Given the description of an element on the screen output the (x, y) to click on. 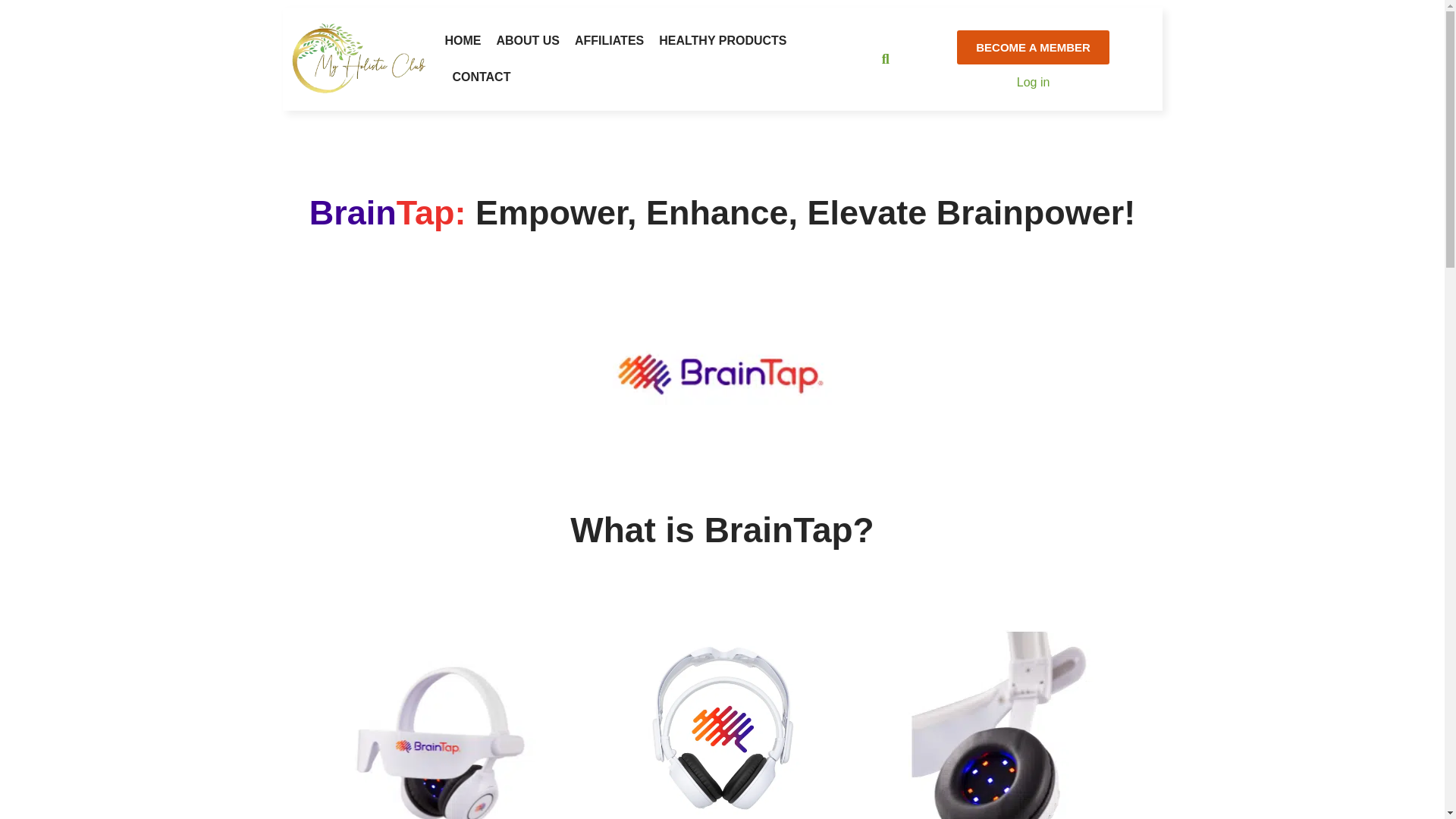
Log in (1032, 82)
CONTACT (481, 76)
HOME (462, 40)
AFFILIATES (609, 40)
HEALTHY PRODUCTS (722, 40)
BECOME A MEMBER (1032, 47)
ABOUT US (527, 40)
